Given the description of an element on the screen output the (x, y) to click on. 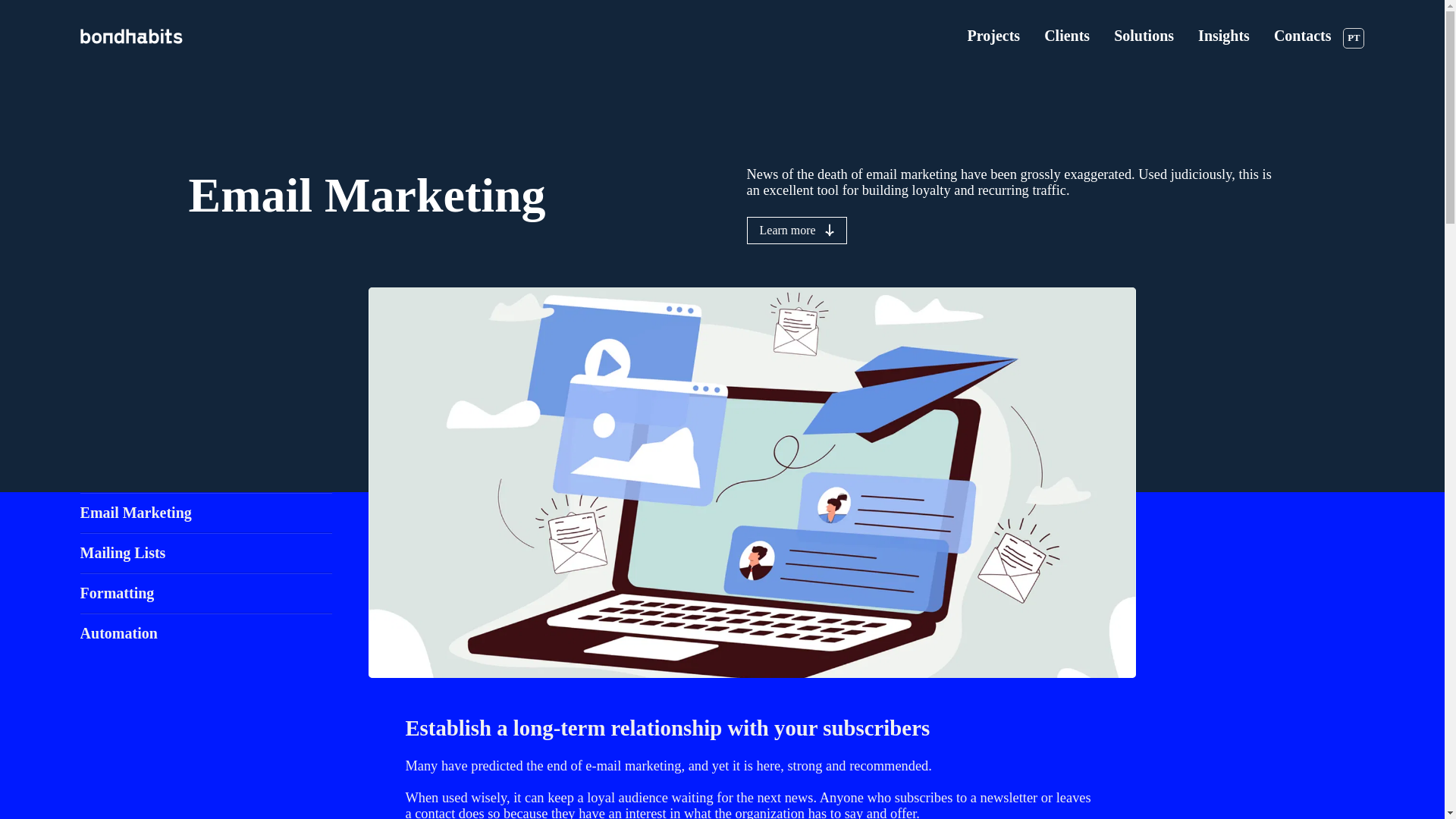
Formatting (193, 592)
Email Marketing (193, 512)
Mailing Lists (193, 552)
Clients (1066, 36)
BondHabits - Homepage (143, 35)
Insights (1223, 36)
Solutions (1143, 36)
Projects (994, 36)
PT (1352, 37)
Learn more (795, 230)
